Given the description of an element on the screen output the (x, y) to click on. 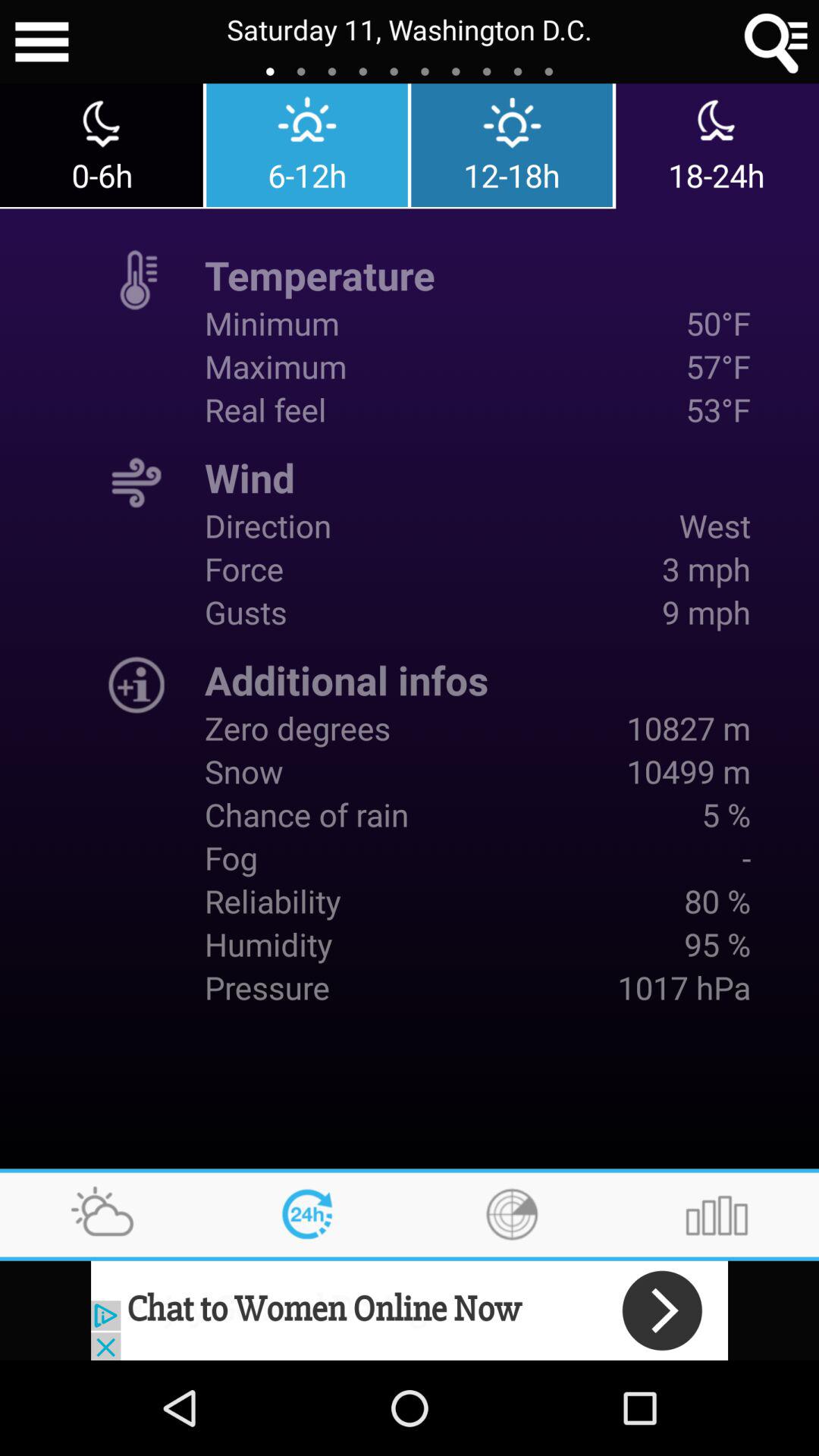
advertisement (409, 1310)
